Given the description of an element on the screen output the (x, y) to click on. 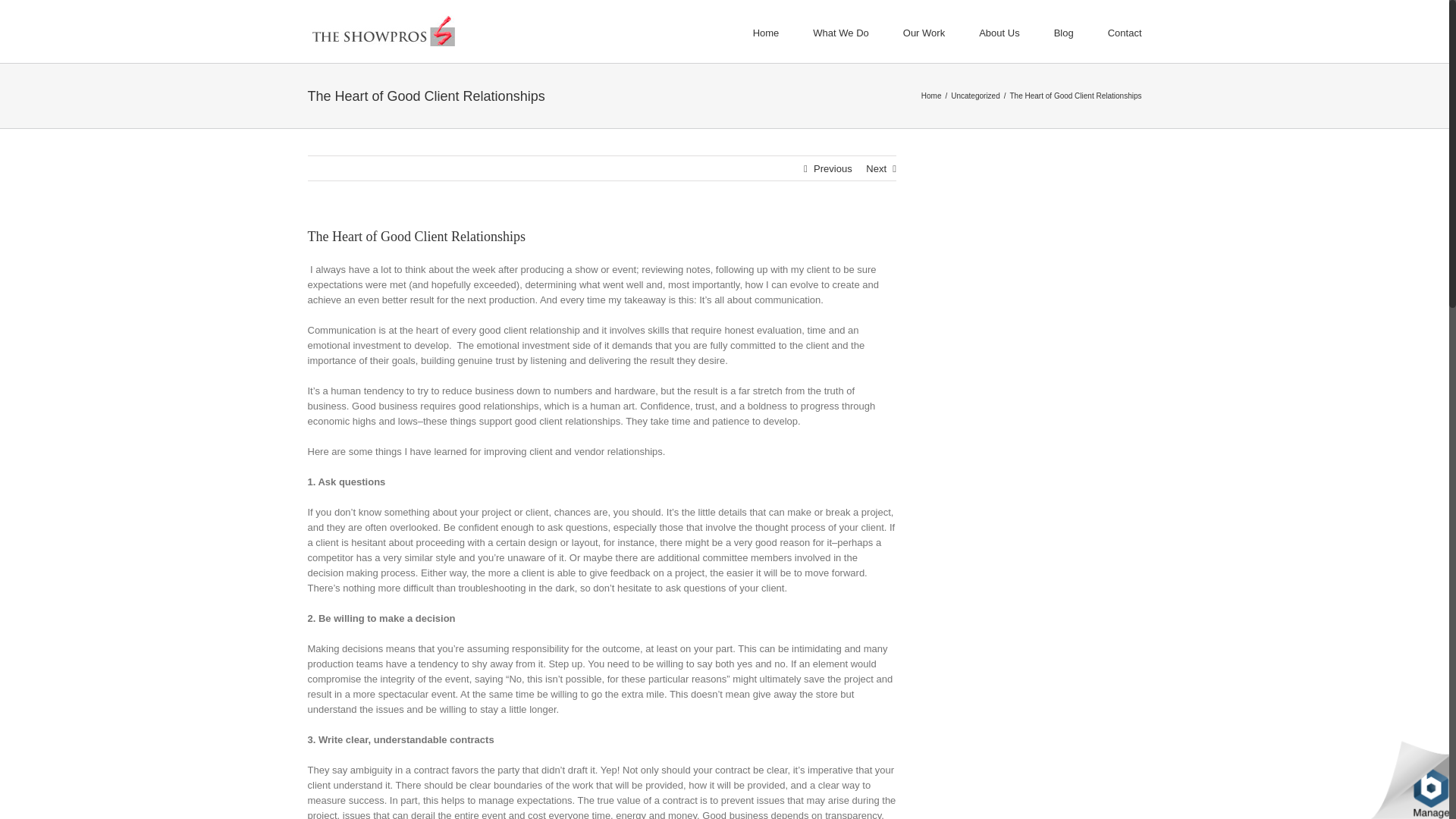
Home (931, 95)
Previous (832, 168)
Uncategorized (974, 95)
